Given the description of an element on the screen output the (x, y) to click on. 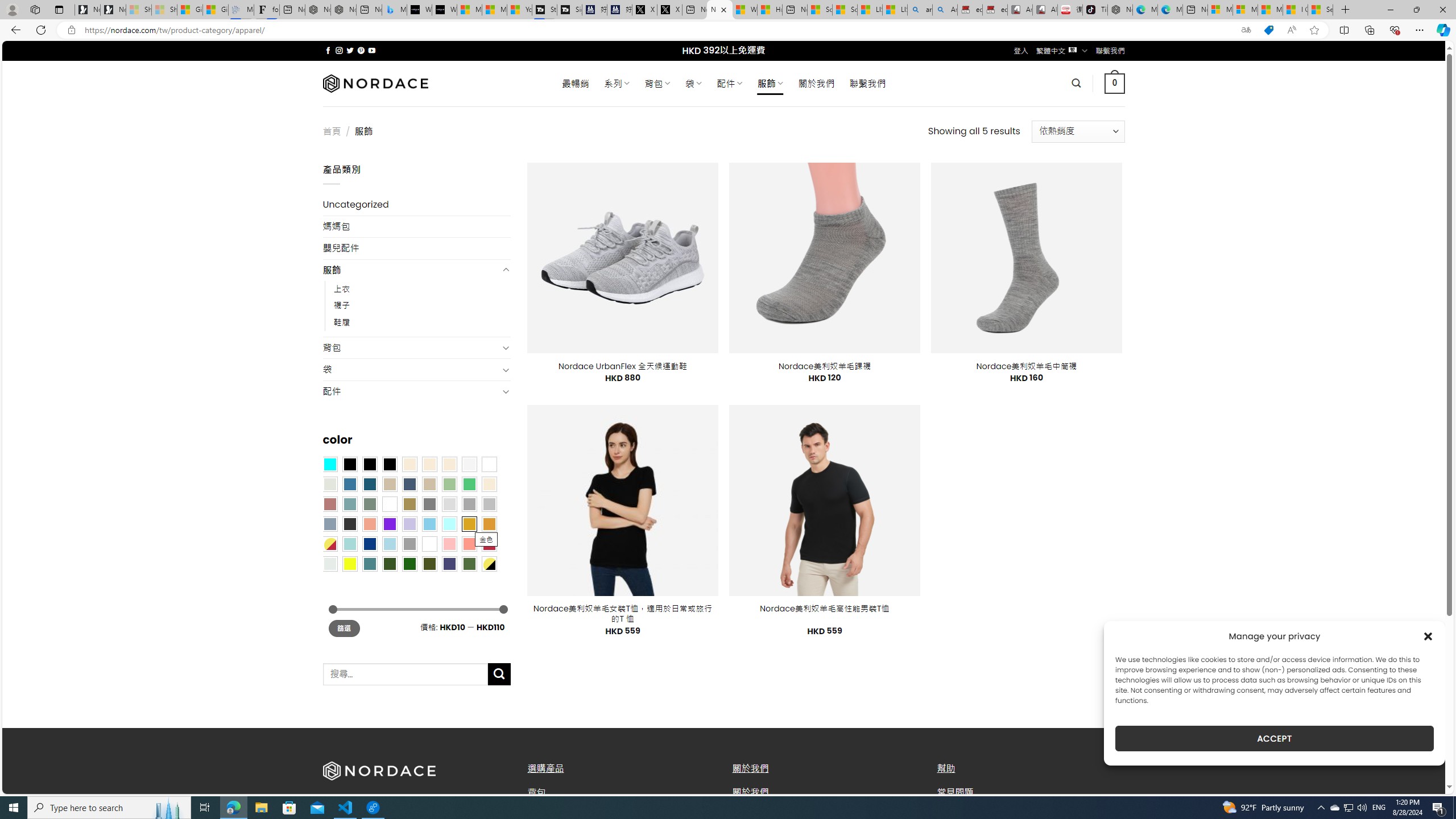
Nordace - #1 Japanese Best-Seller - Siena Smart Backpack (343, 9)
Class: cmplz-close (1428, 636)
Follow on YouTube (371, 50)
